Given the description of an element on the screen output the (x, y) to click on. 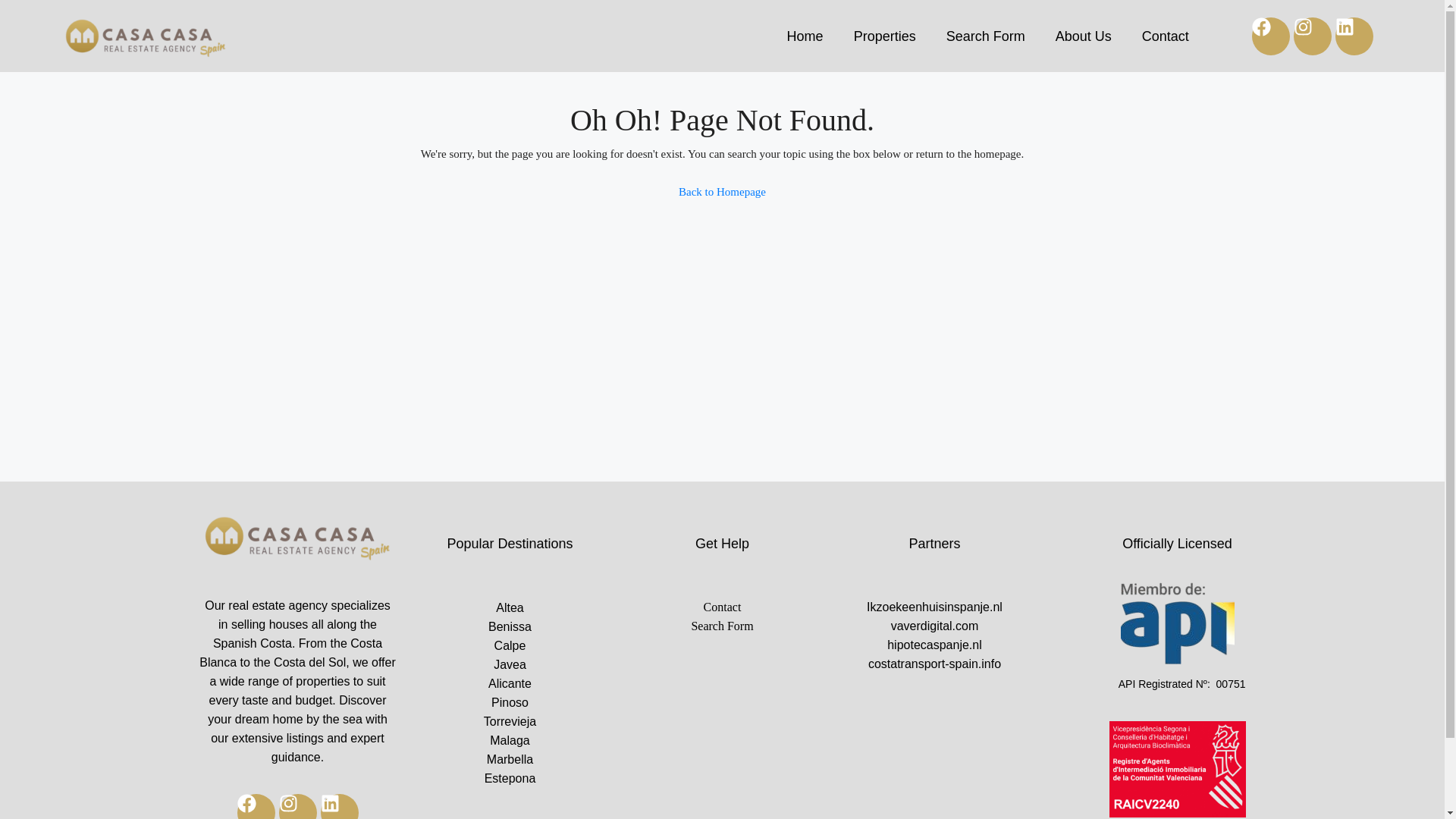
Search Form (986, 35)
Altea (509, 607)
Calpe (509, 645)
Benissa (509, 626)
Home (804, 35)
Back to Homepage (721, 192)
CASA CASA REAL ESTATE TRANSPA (297, 539)
About Us (1083, 35)
Properties (884, 35)
Contact (1165, 35)
